Given the description of an element on the screen output the (x, y) to click on. 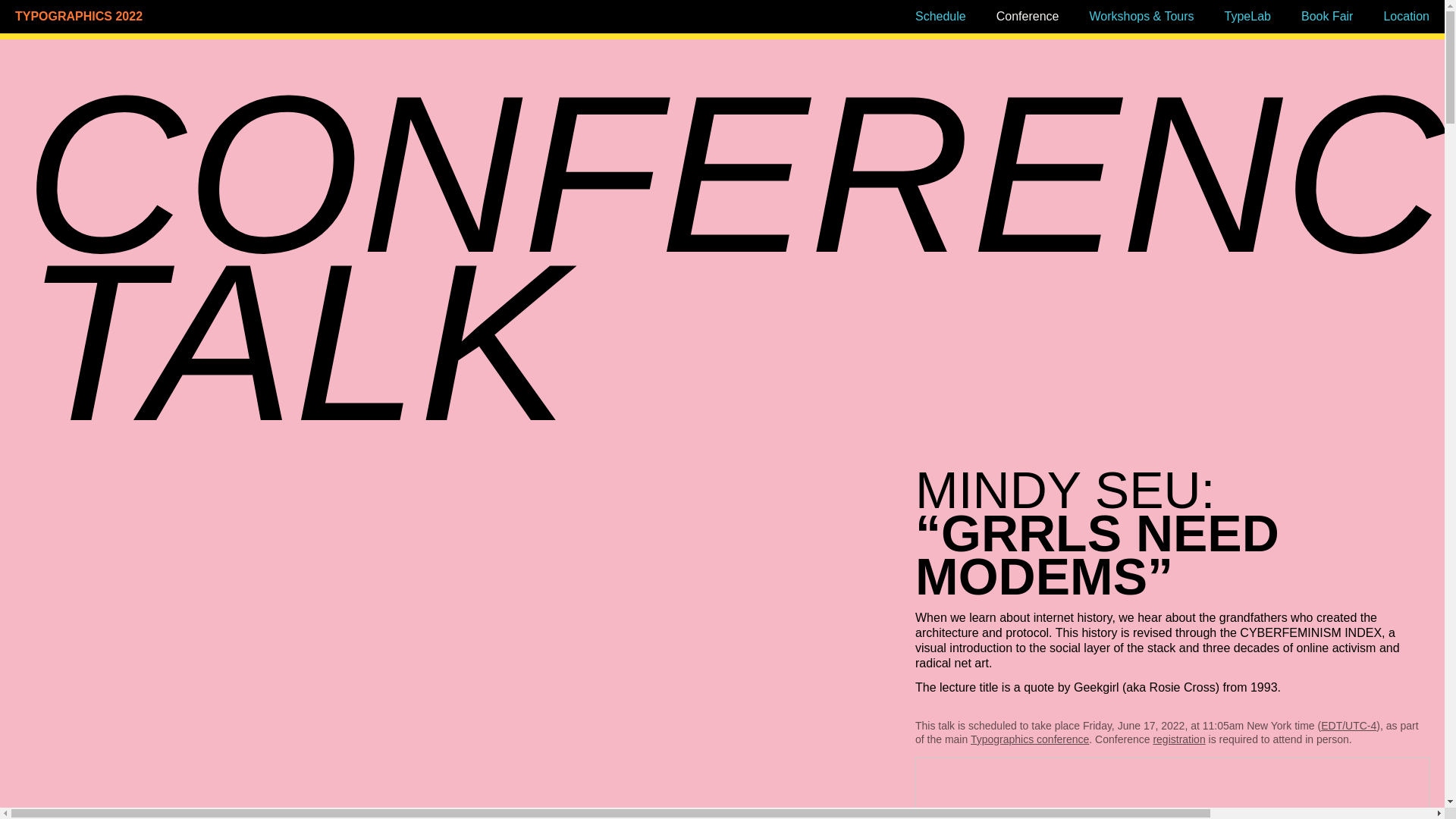
Typographics conference (1030, 739)
Location (1406, 15)
registration (1179, 739)
Schedule (940, 15)
TypeLab (1247, 15)
Book Fair (1326, 15)
TYPOGRAPHICS 2022 (185, 16)
Conference (1027, 15)
